Given the description of an element on the screen output the (x, y) to click on. 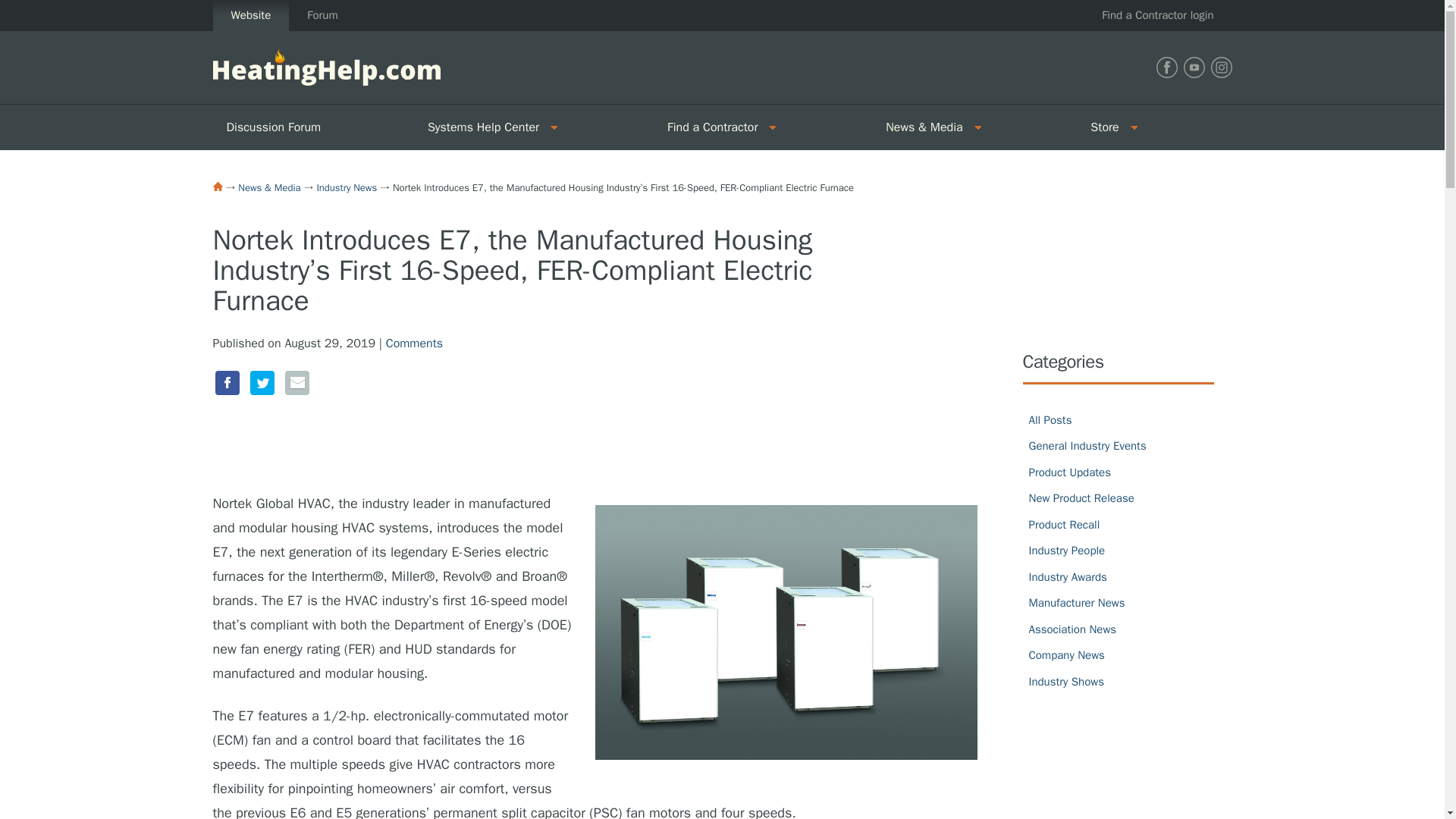
Find a Contractor login (1157, 15)
Find Heating Help on Instagram (1220, 66)
Skip to Content (40, 9)
Website (250, 15)
Forum (321, 15)
Home (217, 185)
Systems Help Center (478, 126)
Find Heating Help on Youtube (1193, 66)
Discussion Forum (312, 126)
Find Heating Help on Facebook (1166, 66)
